Given the description of an element on the screen output the (x, y) to click on. 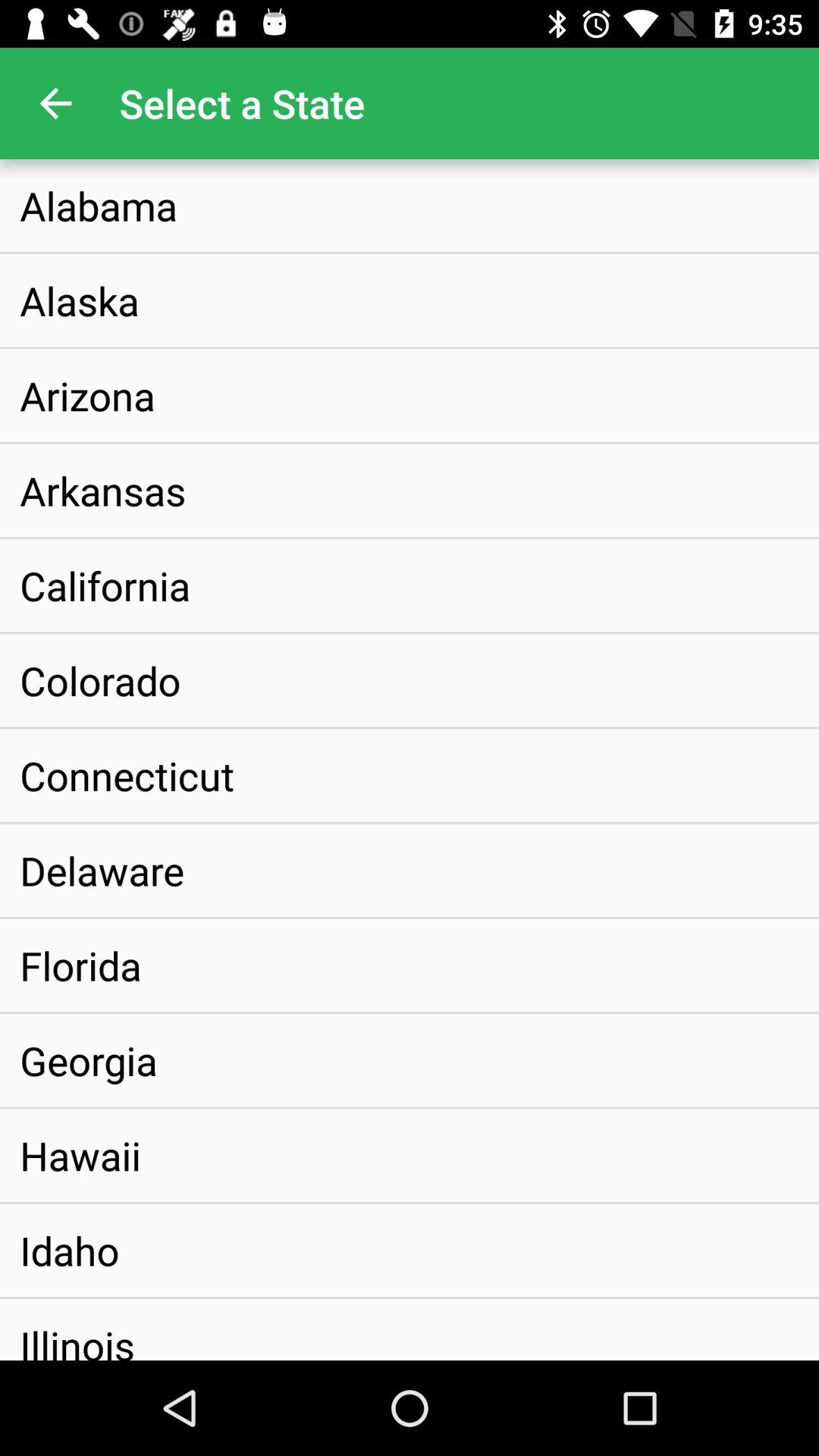
choose the icon above arkansas icon (87, 395)
